Given the description of an element on the screen output the (x, y) to click on. 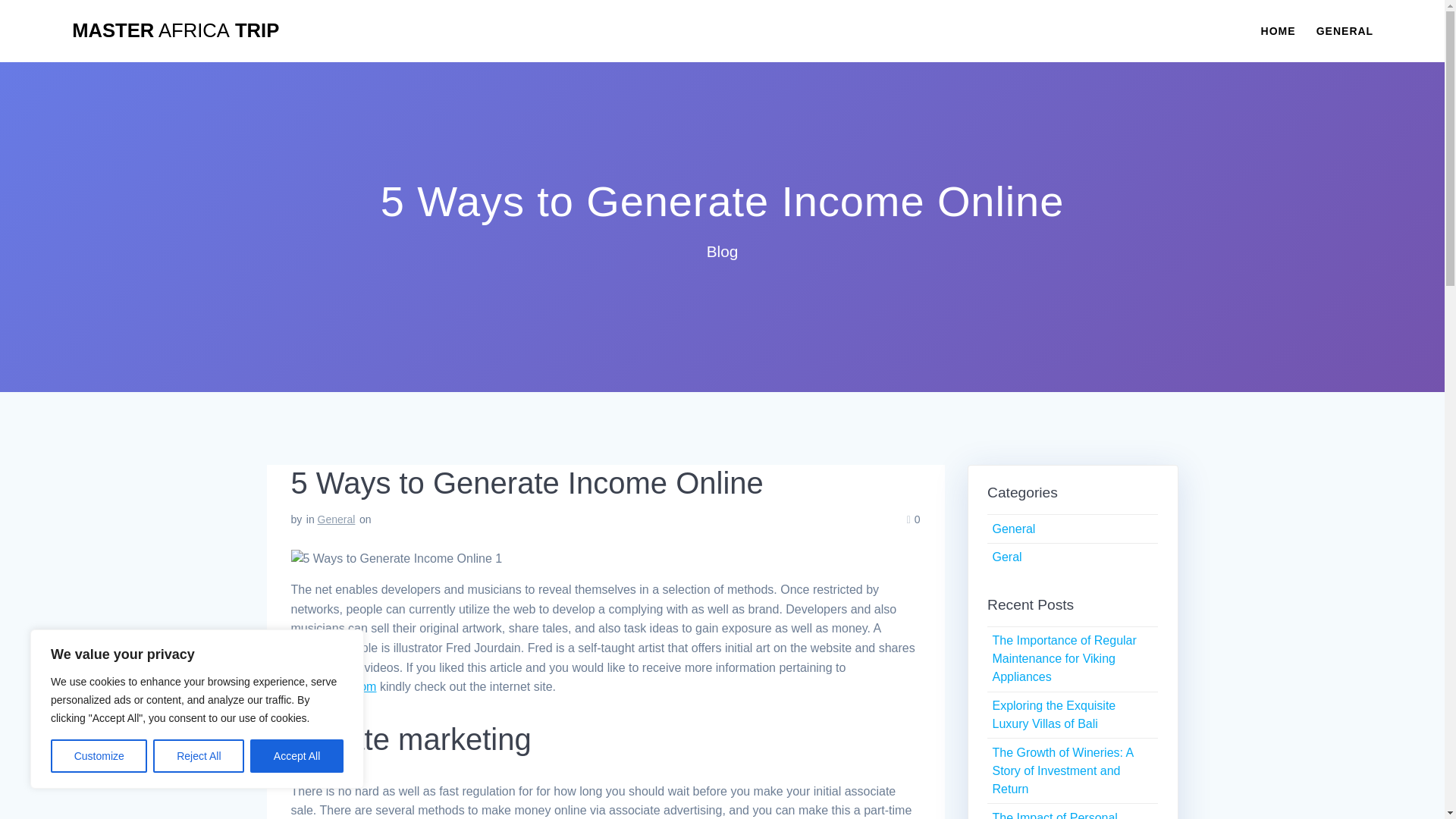
Reject All (198, 756)
HOME (1277, 30)
The Growth of Wineries: A Story of Investment and Return (1061, 770)
Geral (1006, 556)
frigginyeah.com (334, 686)
General (1013, 528)
MASTER AFRICA TRIP (175, 30)
GENERAL (1344, 30)
Exploring the Exquisite Luxury Villas of Bali (1053, 714)
General (336, 519)
